Given the description of an element on the screen output the (x, y) to click on. 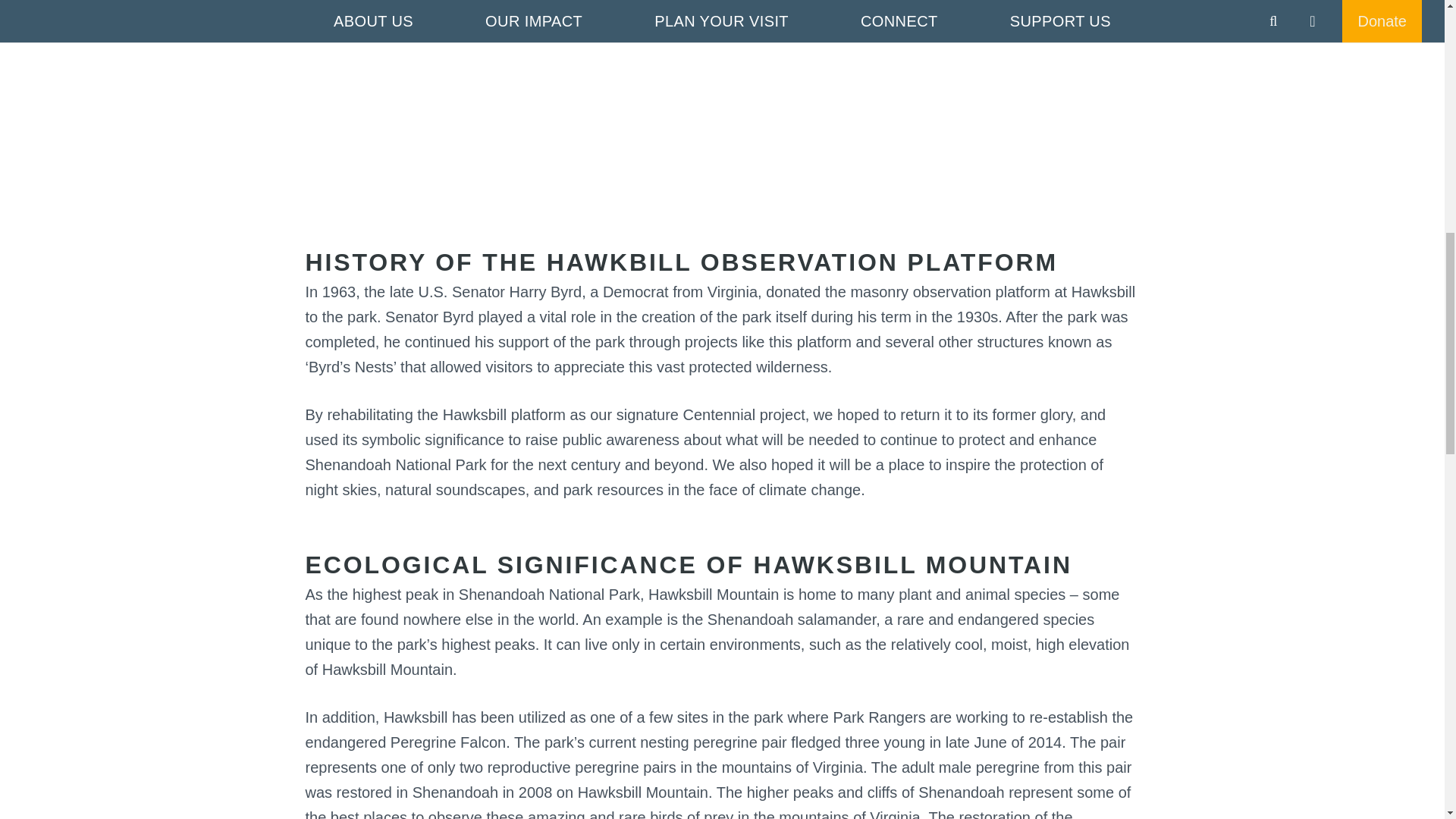
Back to top (30, 26)
